Given the description of an element on the screen output the (x, y) to click on. 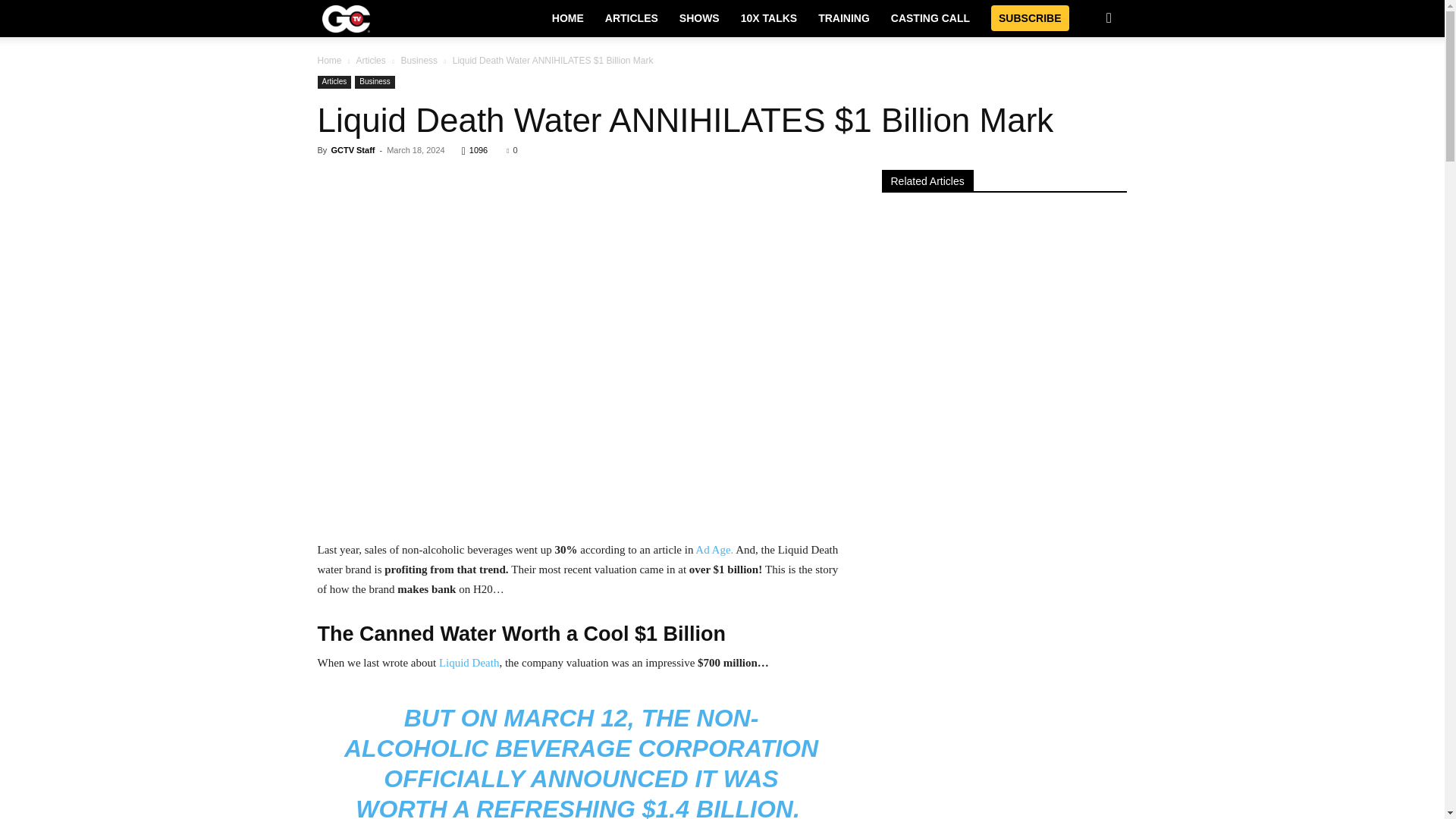
ARTICLES (631, 18)
GCTV (345, 18)
View all posts in Business (419, 60)
View all posts in Articles (370, 60)
Search (1085, 78)
HOME (567, 18)
